Given the description of an element on the screen output the (x, y) to click on. 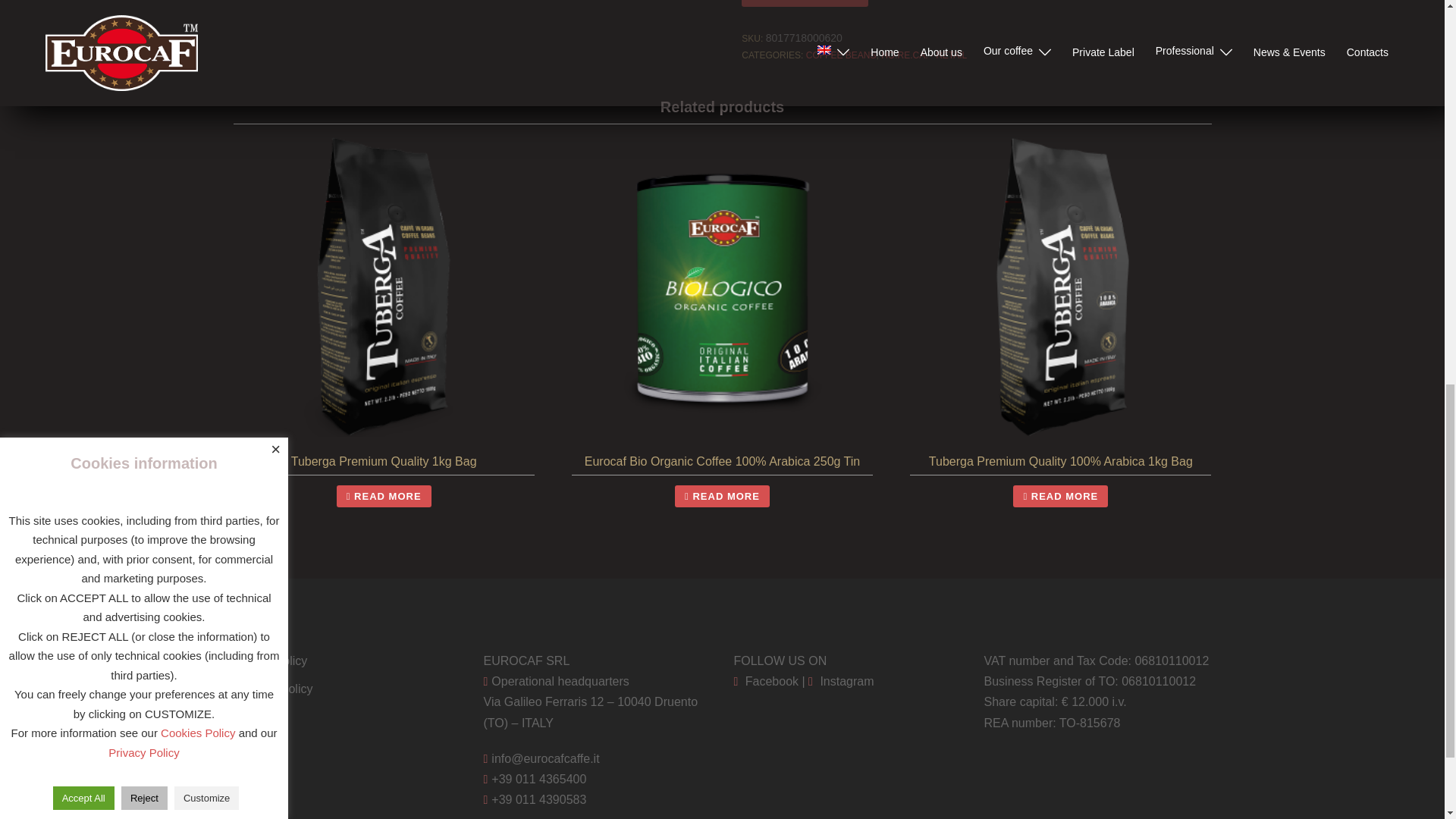
Tuberga 500 100 AR (467, 37)
COFFEE BEANS (841, 54)
SEND AN ENQUIRY (804, 3)
Facebook (766, 680)
READ MORE (722, 495)
HO.RE.CA. - RETAIL (923, 54)
Instagram (840, 680)
Cookies Policy (272, 688)
READ MORE (383, 495)
READ MORE (1060, 495)
Privacy policy (269, 660)
